Given the description of an element on the screen output the (x, y) to click on. 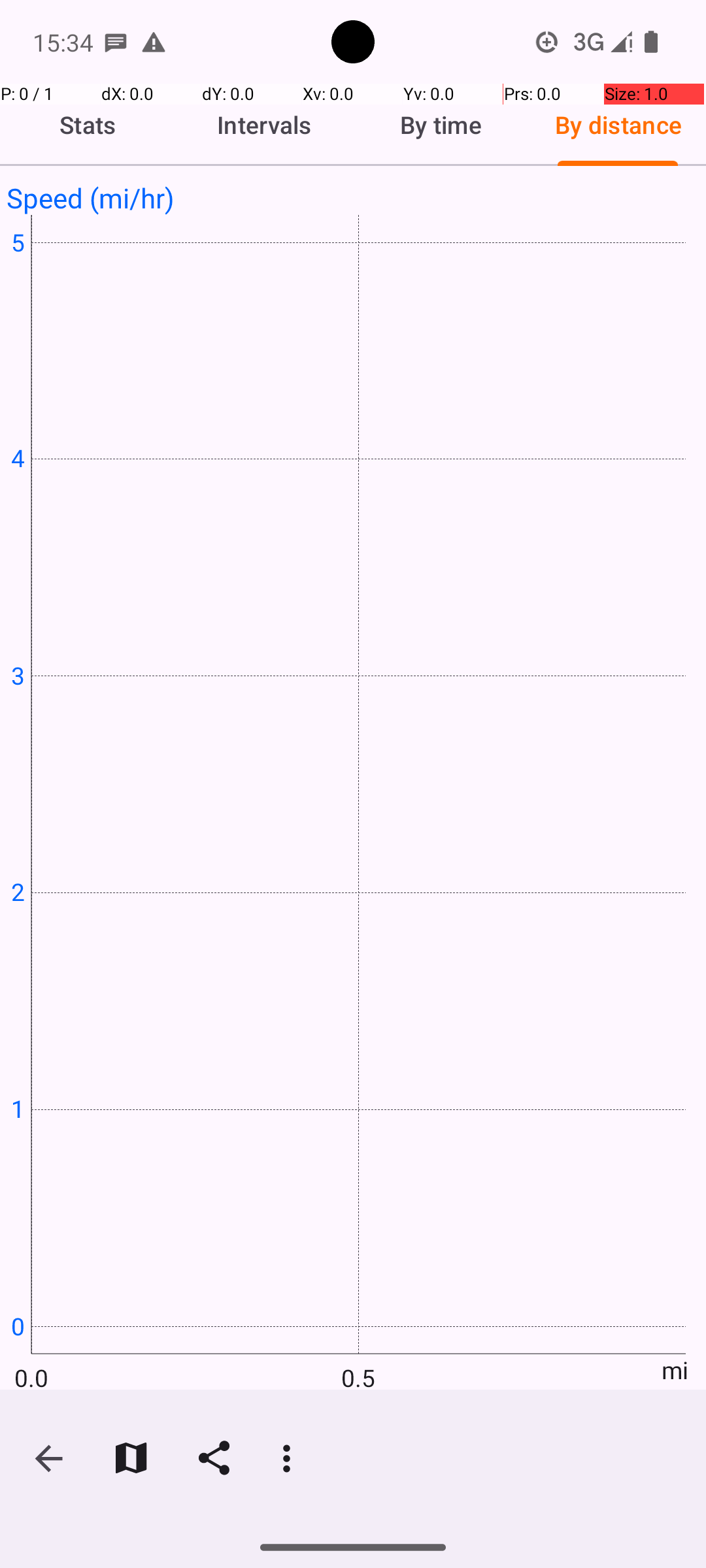
Stats Element type: android.widget.LinearLayout (88, 124)
Intervals Element type: android.widget.LinearLayout (264, 124)
By time Element type: android.widget.LinearLayout (441, 124)
By distance Element type: android.widget.LinearLayout (617, 124)
Show on map Element type: android.widget.Button (130, 1458)
